Given the description of an element on the screen output the (x, y) to click on. 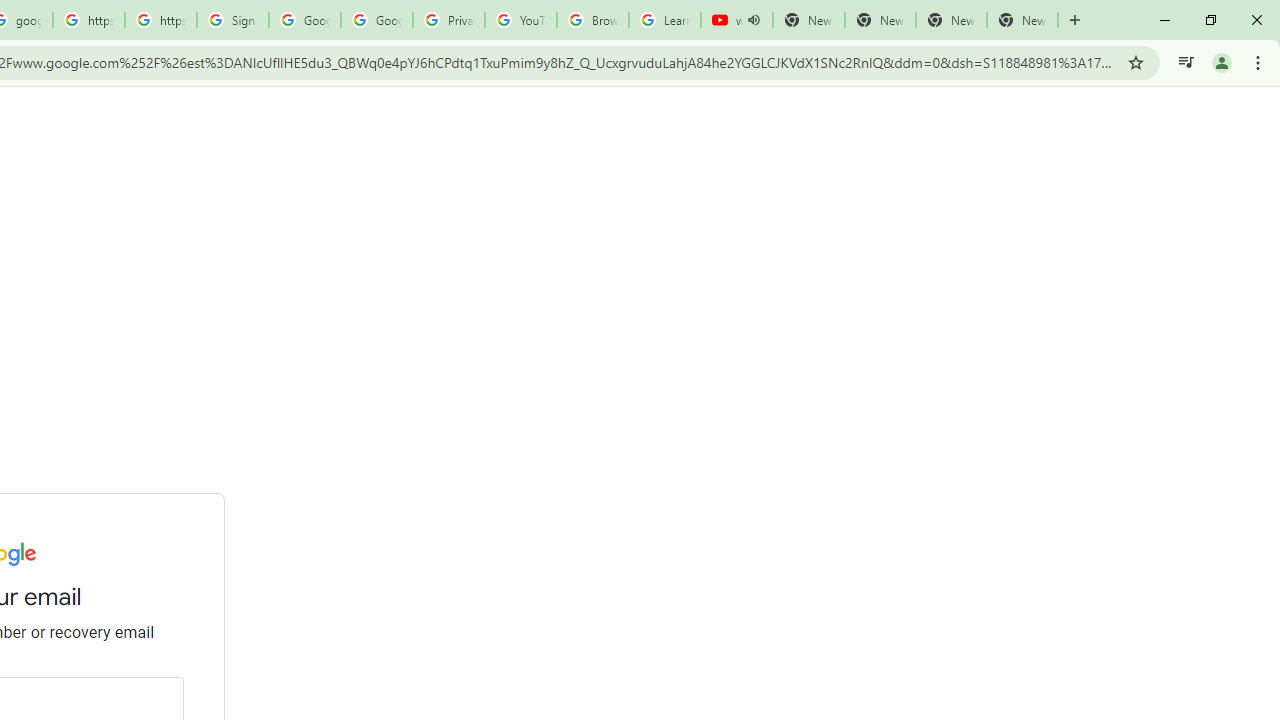
Sign in - Google Accounts (232, 20)
Browse Chrome as a guest - Computer - Google Chrome Help (592, 20)
https://scholar.google.com/ (161, 20)
YouTube (520, 20)
New Tab (880, 20)
https://scholar.google.com/ (88, 20)
Mute tab (753, 20)
Control your music, videos, and more (1185, 62)
